Given the description of an element on the screen output the (x, y) to click on. 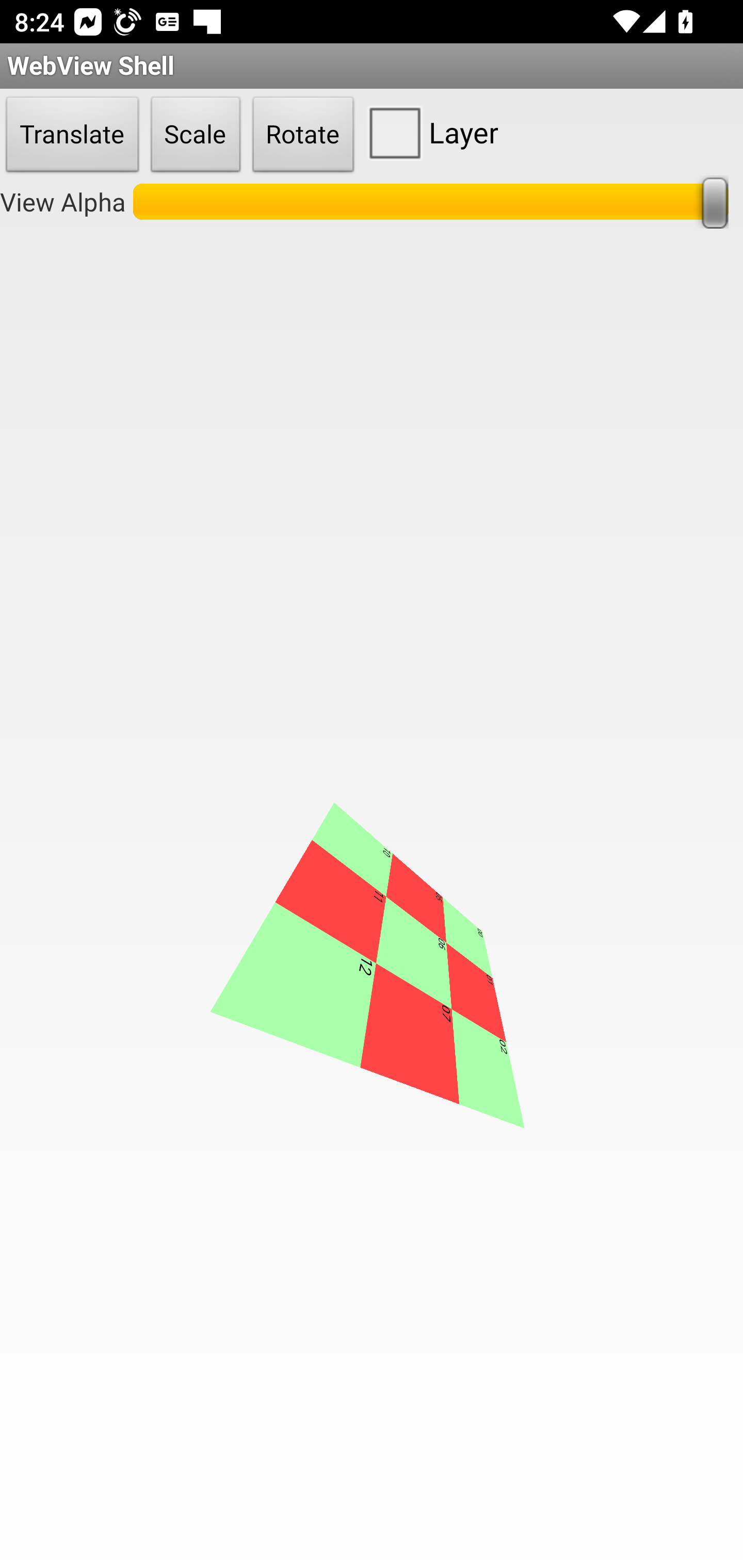
Layer (429, 132)
Translate (72, 135)
Scale (195, 135)
Rotate (303, 135)
